Given the description of an element on the screen output the (x, y) to click on. 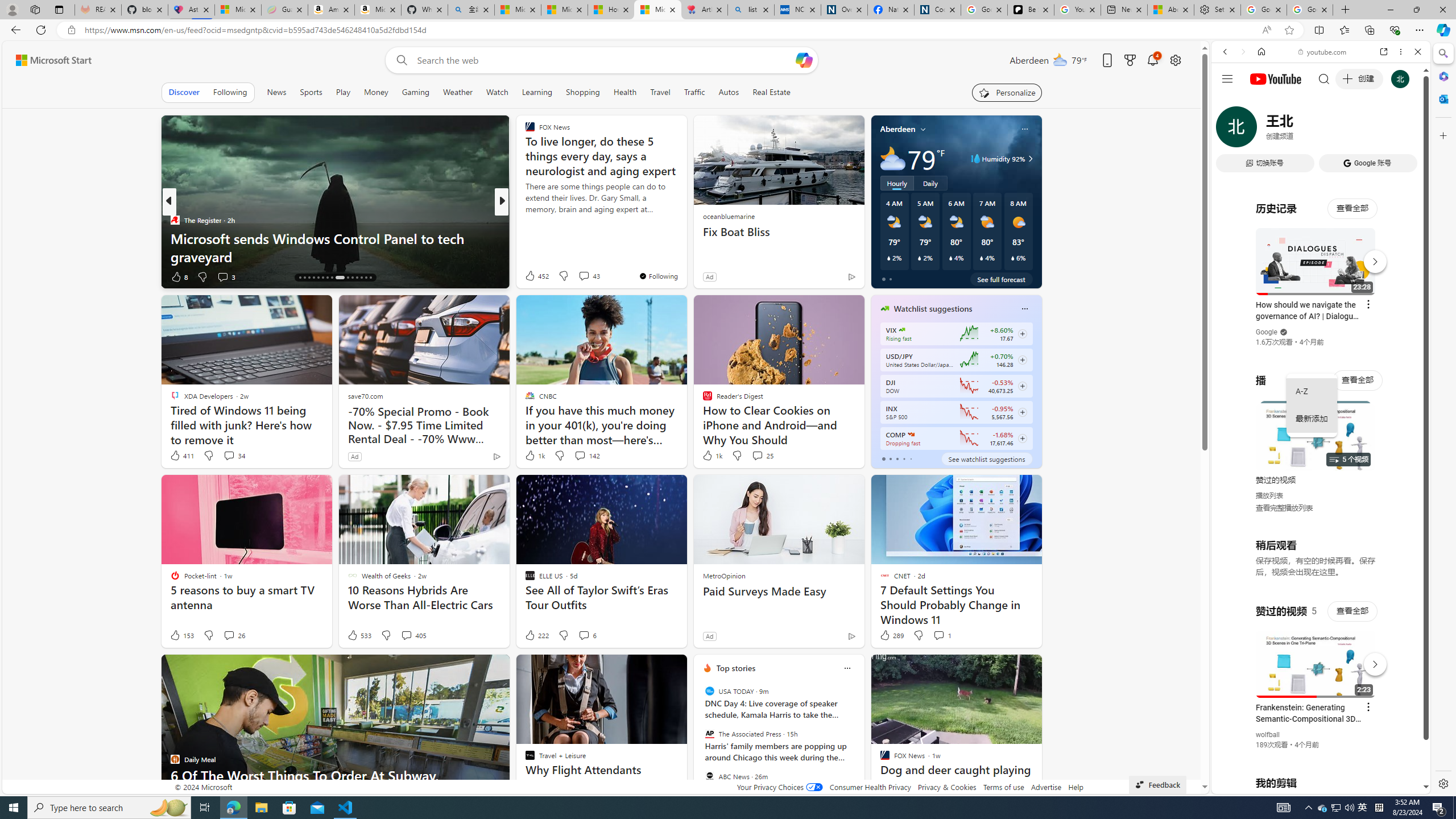
Health (624, 92)
Mostly cloudy (892, 158)
View comments 43 Comment (588, 275)
